Given the description of an element on the screen output the (x, y) to click on. 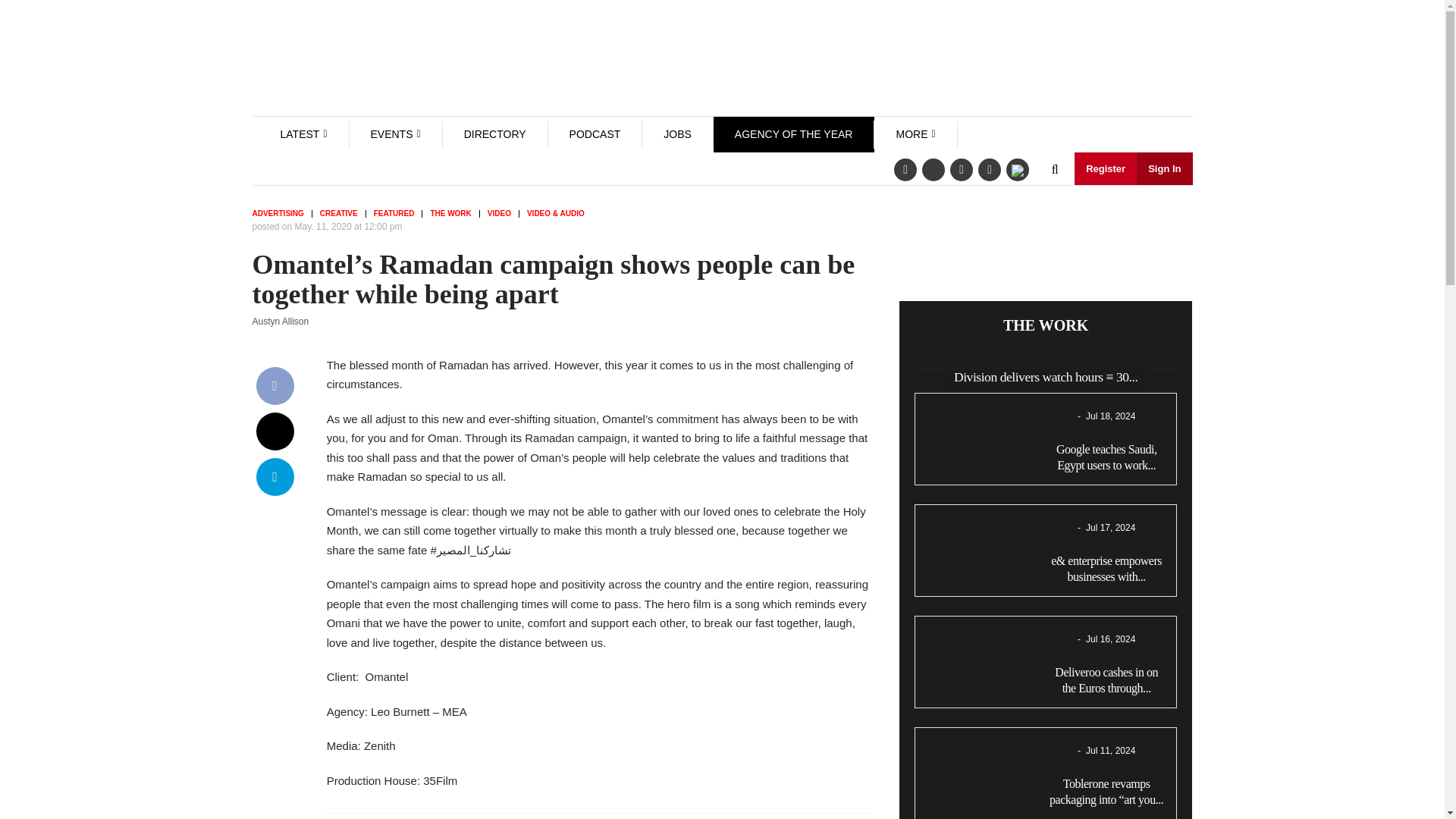
Creative (343, 213)
Advertising (281, 213)
Featured (398, 213)
search (1054, 169)
The Work (454, 213)
LATEST (300, 134)
Video (503, 213)
